Given the description of an element on the screen output the (x, y) to click on. 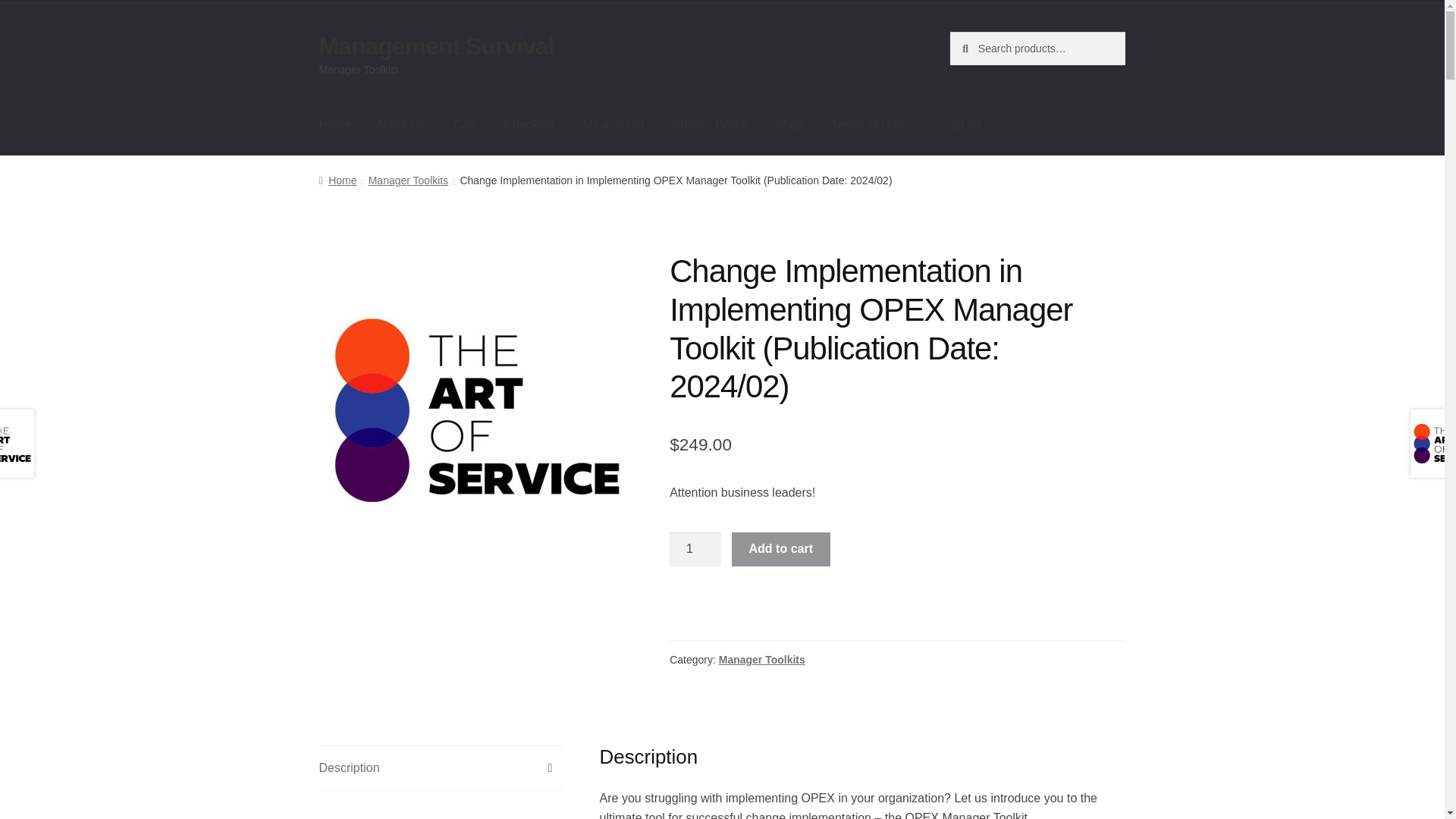
Privacy Policy (709, 124)
Checkout (529, 124)
PayPal (897, 618)
Management Survival (436, 45)
Manager Toolkits (408, 180)
Home (337, 180)
Add to cart (780, 549)
1 (694, 549)
